Given the description of an element on the screen output the (x, y) to click on. 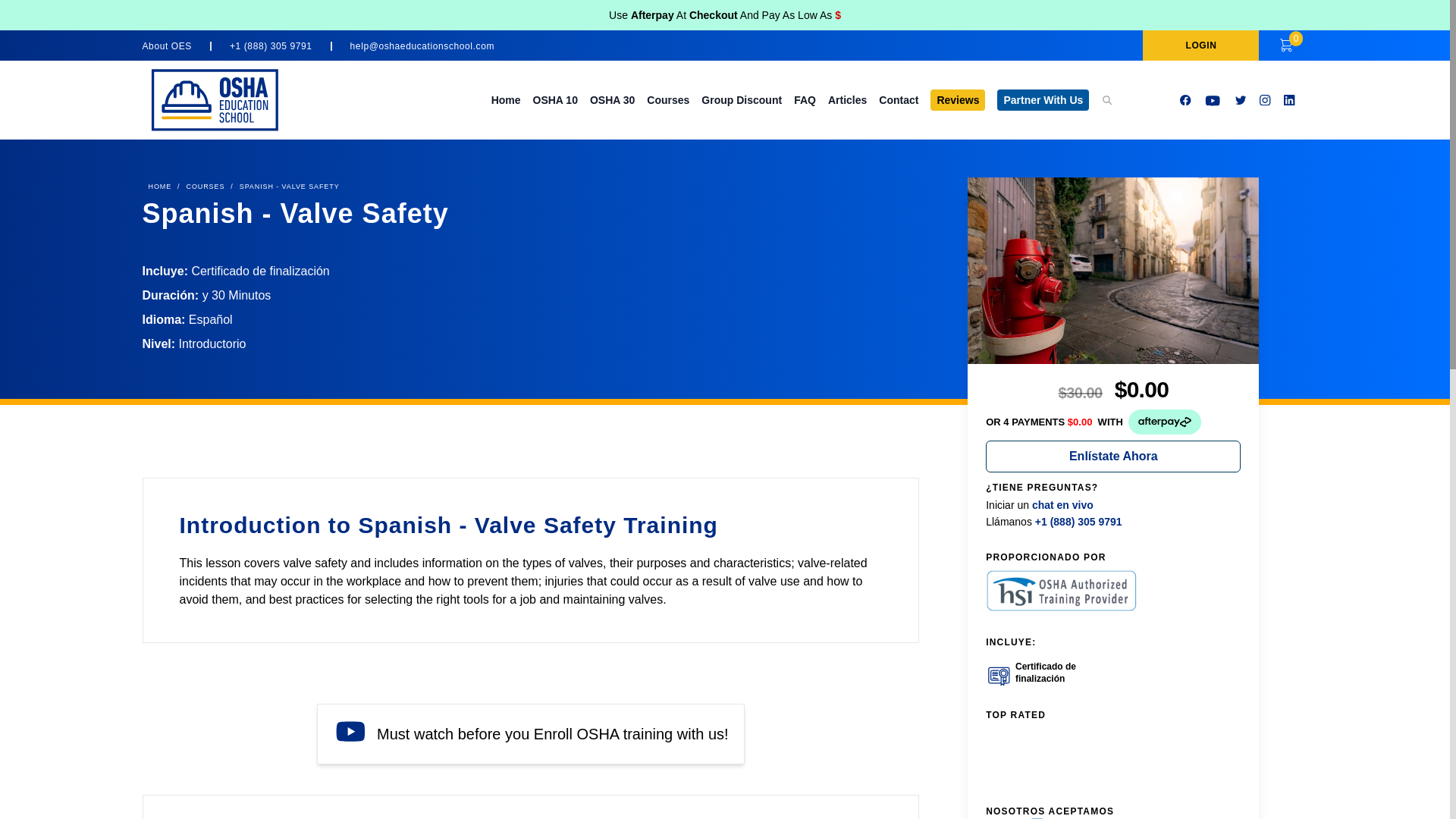
0 (1286, 45)
HOME (159, 186)
Home (506, 99)
OSHA 30 (611, 99)
Partner With Us (1043, 99)
OSHA 10 (555, 99)
COURSES (205, 186)
Reviews (957, 99)
Iniciar un chat en vivo (1039, 504)
Group Discount (741, 99)
